Given the description of an element on the screen output the (x, y) to click on. 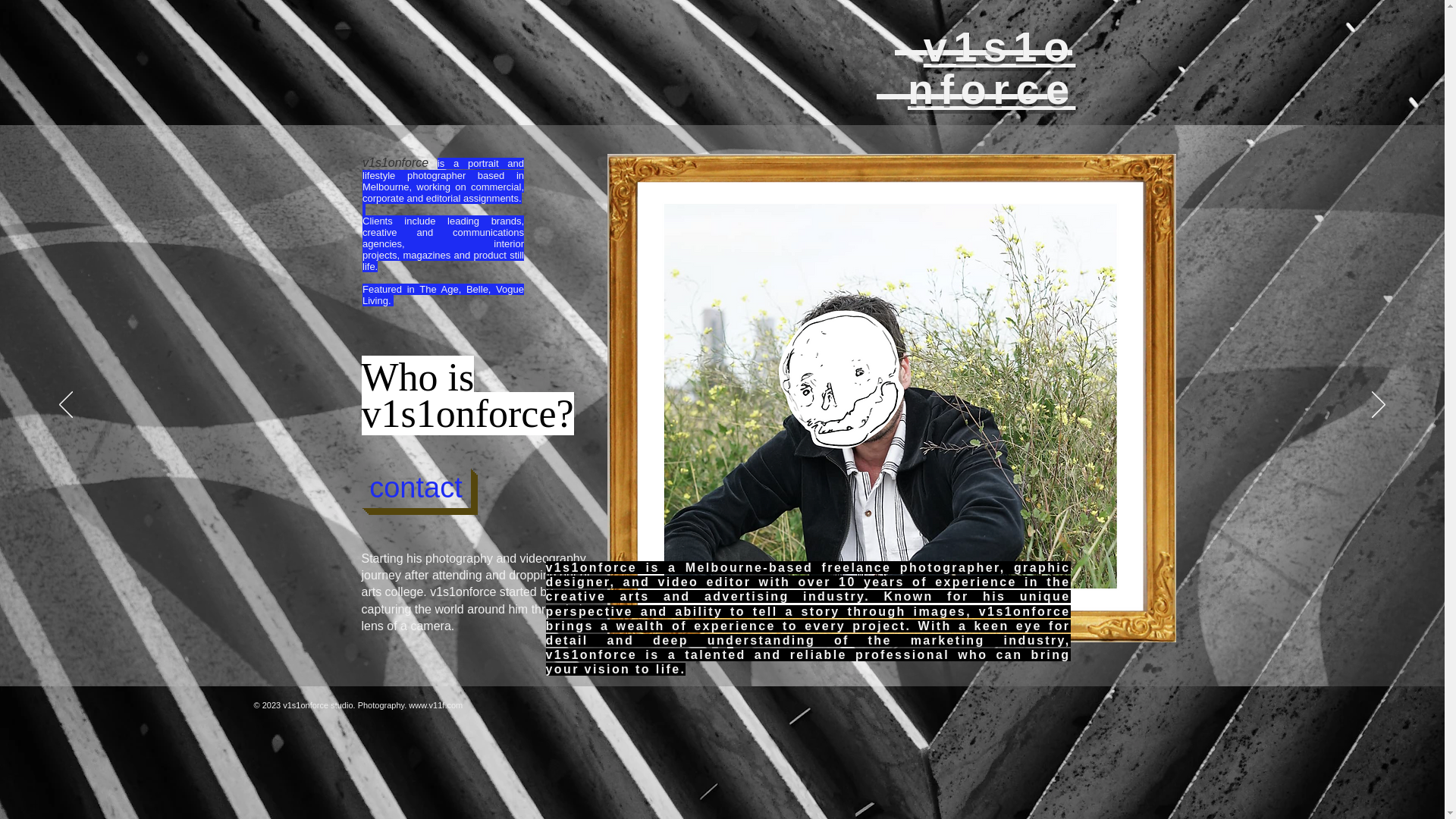
v1s1onforce (991, 67)
www.v11f.com (436, 705)
contact (415, 487)
